Given the description of an element on the screen output the (x, y) to click on. 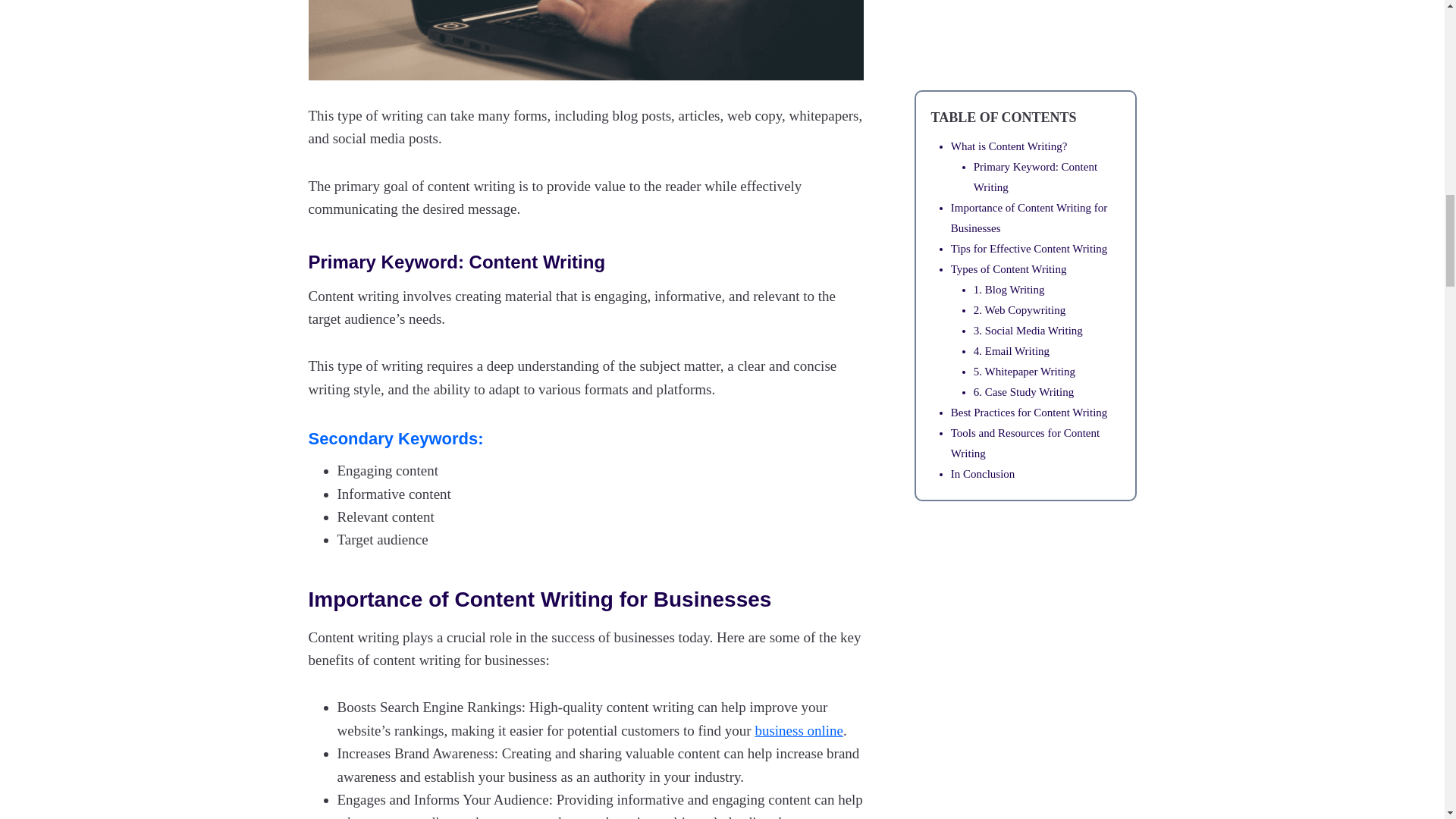
Content Writing: The Ultimate Guide to Boost Your Business 3 (585, 40)
business online (798, 730)
